Given the description of an element on the screen output the (x, y) to click on. 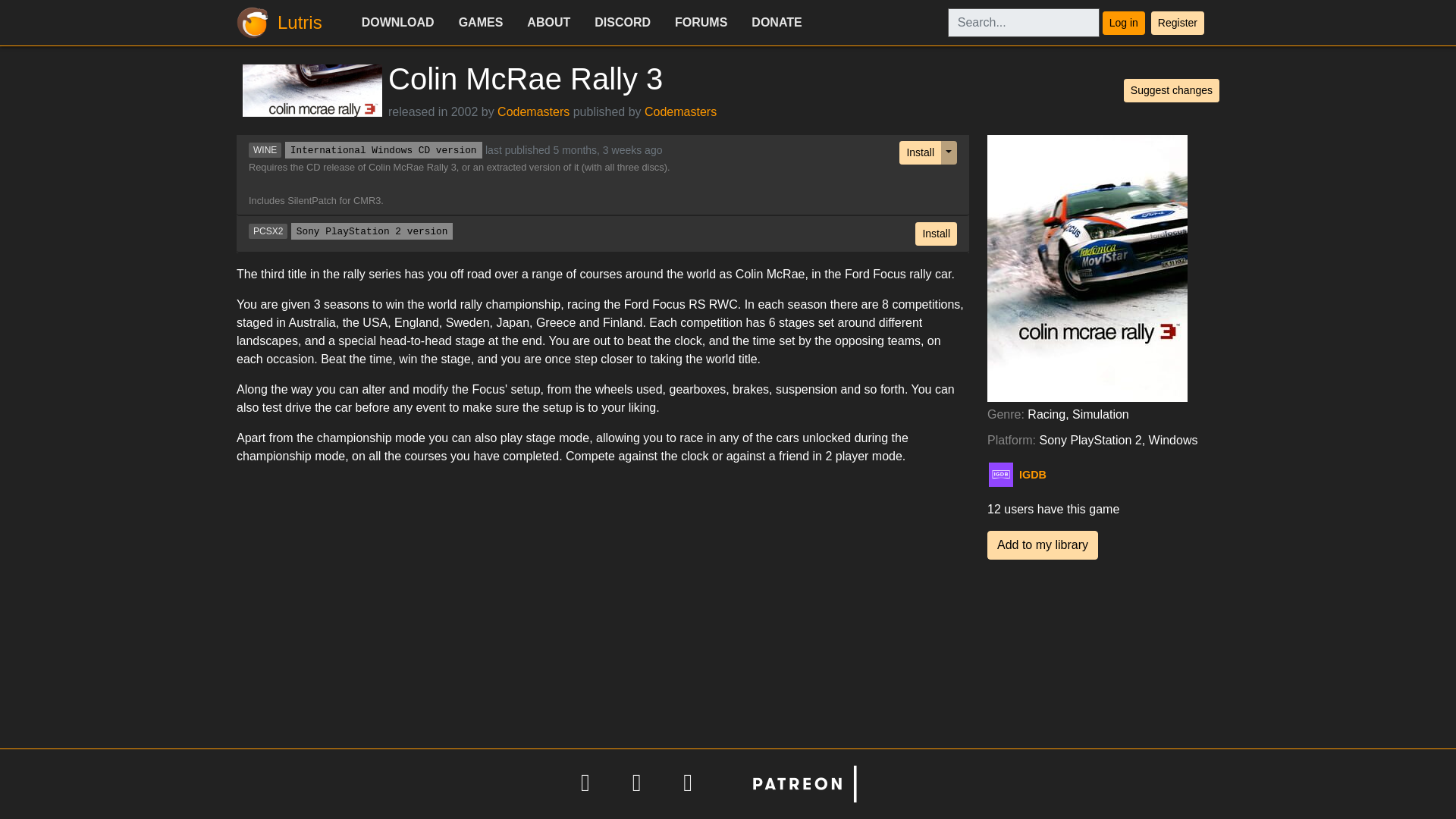
DISCORD (622, 22)
Codemasters (533, 110)
Register (1177, 22)
Install (919, 152)
Codemasters (680, 110)
GAMES (480, 22)
Install (935, 233)
IGDB (1053, 474)
Lutris (283, 22)
ABOUT (548, 22)
Log in (1123, 22)
FORUMS (700, 22)
Add to my library (1042, 544)
DOWNLOAD (397, 22)
DONATE (776, 22)
